Given the description of an element on the screen output the (x, y) to click on. 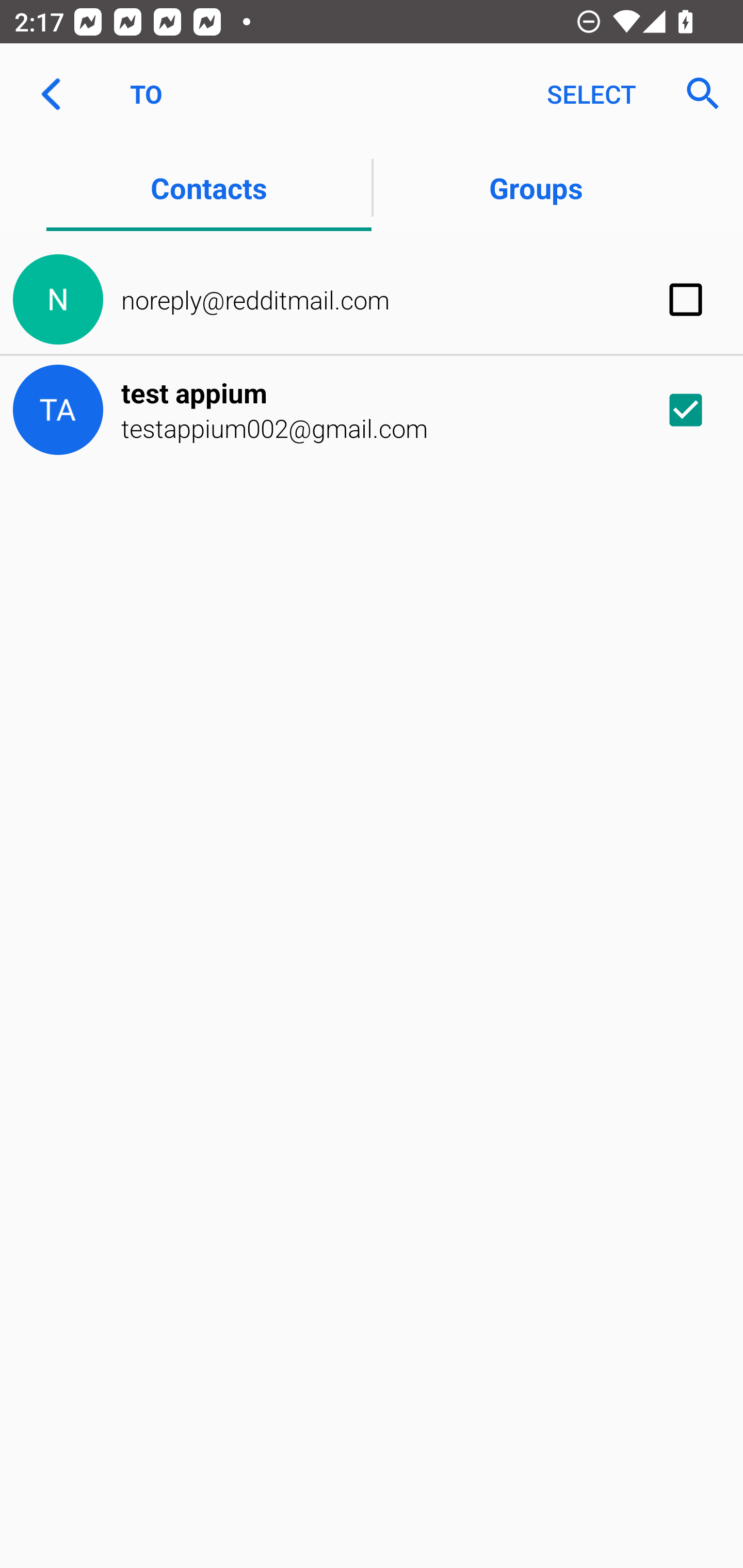
Navigate up (50, 93)
SELECT (590, 93)
Search (696, 93)
Contacts (208, 187)
Groups (535, 187)
noreply@redditmail.com (371, 300)
test appium testappium002@gmail.com (371, 409)
